Given the description of an element on the screen output the (x, y) to click on. 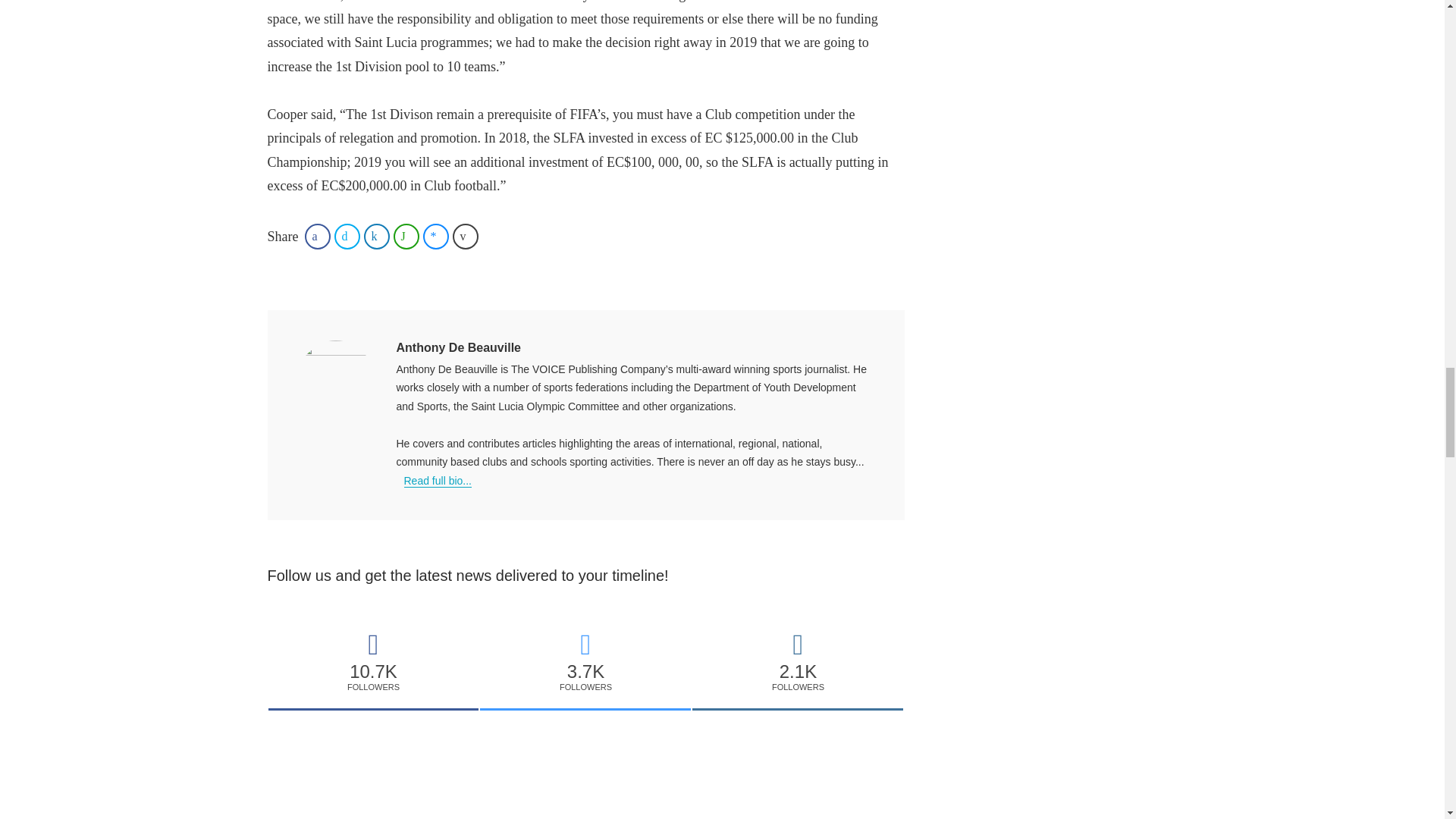
Share on Twitter (346, 236)
Share on Facebook Messenger (435, 236)
Share on WhatsApp (406, 236)
Share on LinkedIn (377, 236)
Share on Facebook (317, 236)
